Given the description of an element on the screen output the (x, y) to click on. 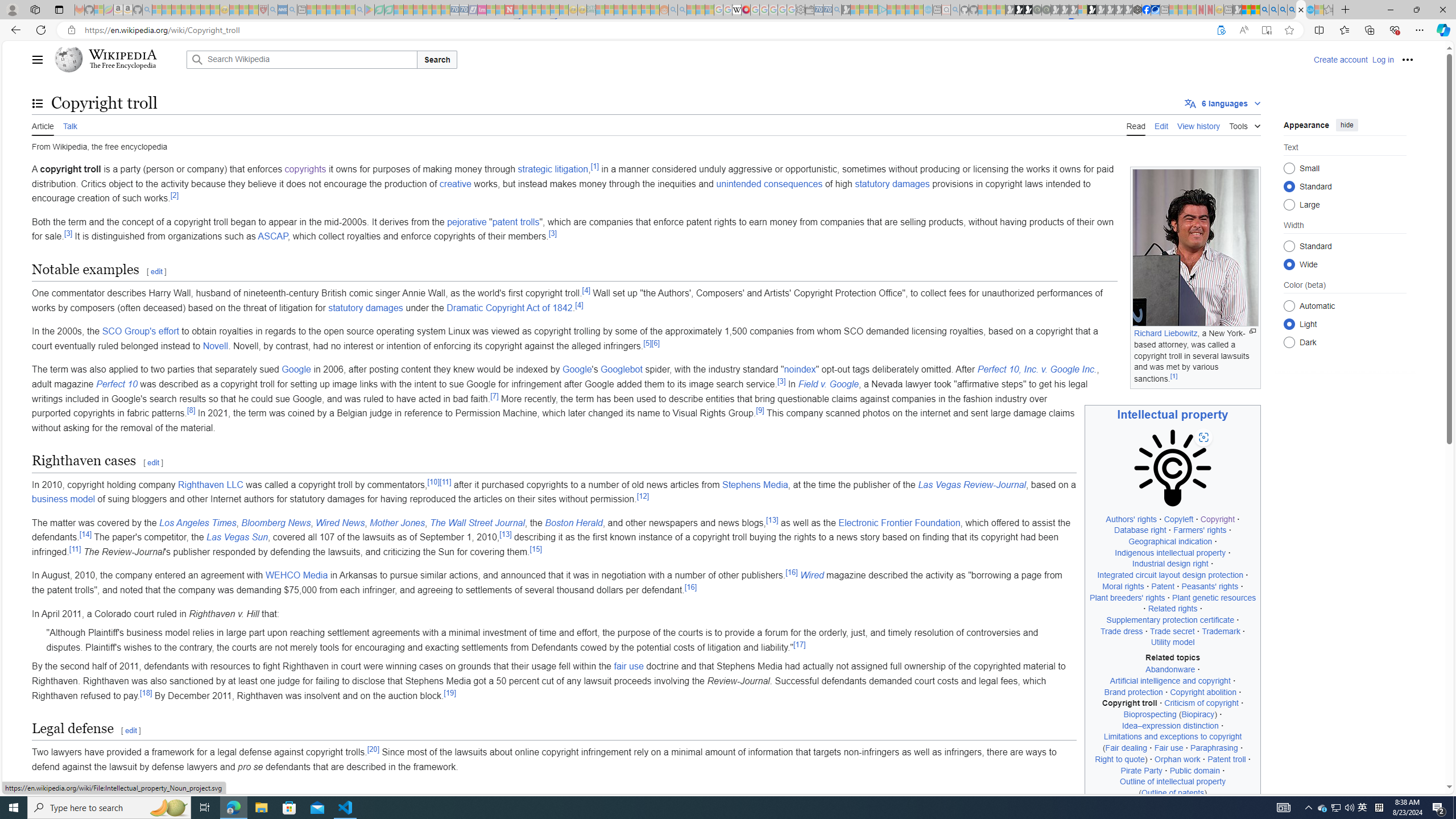
Support Wikipedia? (1220, 29)
Main menu (37, 59)
[18] (145, 691)
Brand protection (1133, 691)
[6] (654, 342)
Talk (69, 124)
Search Wikipedia (301, 59)
View history (1198, 124)
Right to quote (1119, 759)
